Given the description of an element on the screen output the (x, y) to click on. 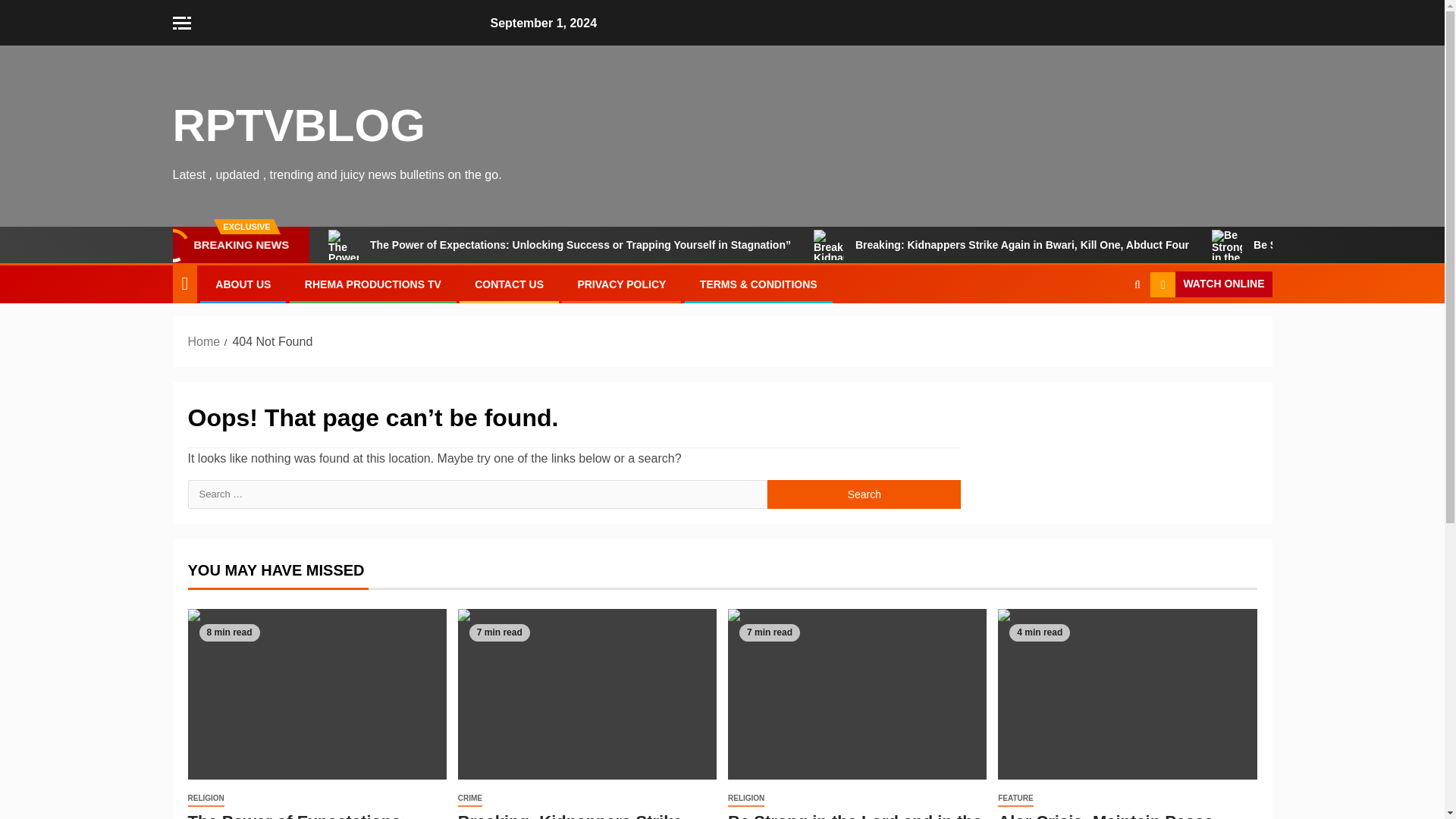
Be Strong in the Lord and in the Power of His Might (854, 815)
RELIGION (746, 798)
ABOUT US (242, 284)
Search (863, 493)
RHEMA PRODUCTIONS TV (372, 284)
Search (863, 493)
Home (204, 341)
WATCH ONLINE (1210, 284)
CONTACT US (508, 284)
